Given the description of an element on the screen output the (x, y) to click on. 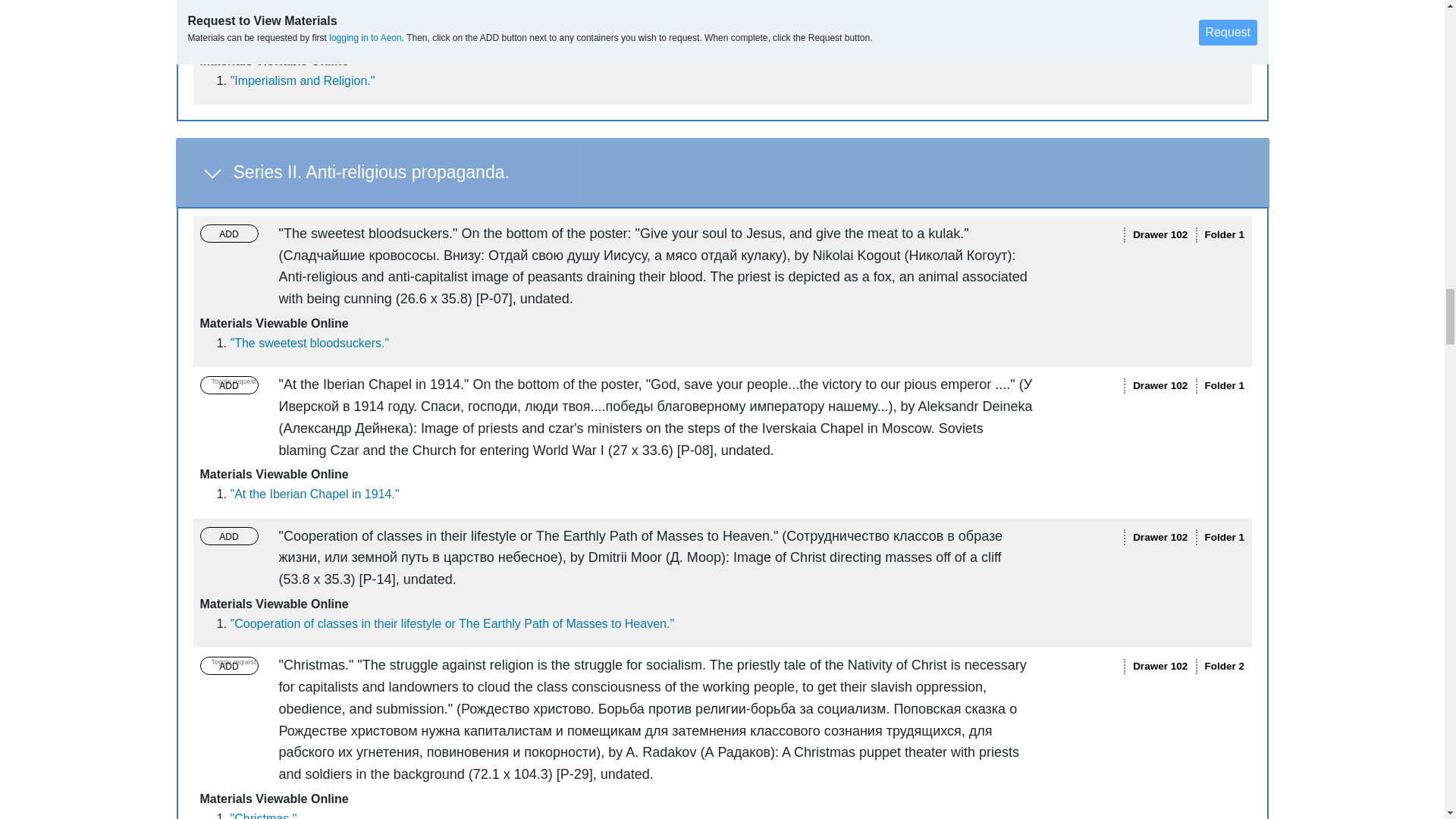
"The sweetest bloodsuckers." (310, 342)
"Imperialism and Religion." (302, 80)
Series II. Anti-religious propaganda. (722, 173)
"At the Iberian Chapel in 1914." (314, 493)
